Given the description of an element on the screen output the (x, y) to click on. 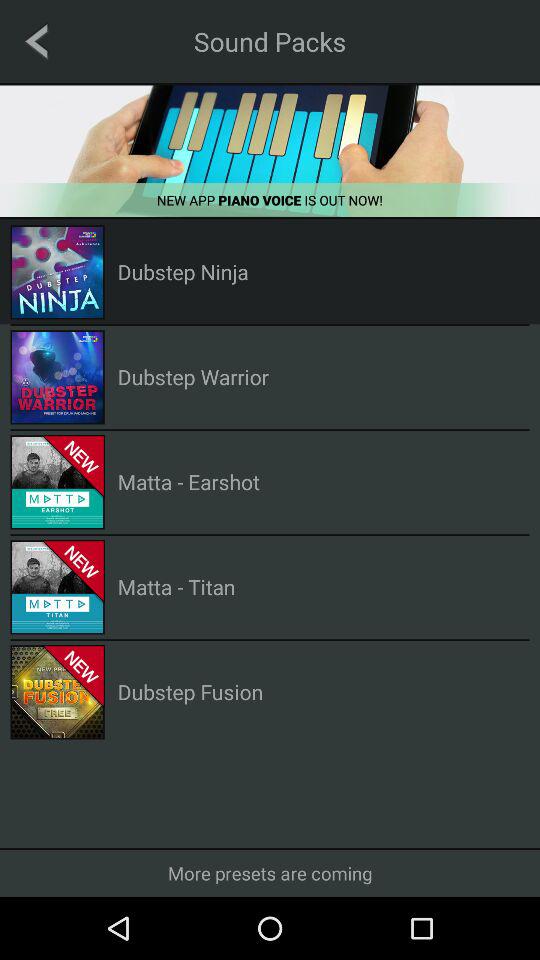
swipe until dubstep ninja item (182, 271)
